Given the description of an element on the screen output the (x, y) to click on. 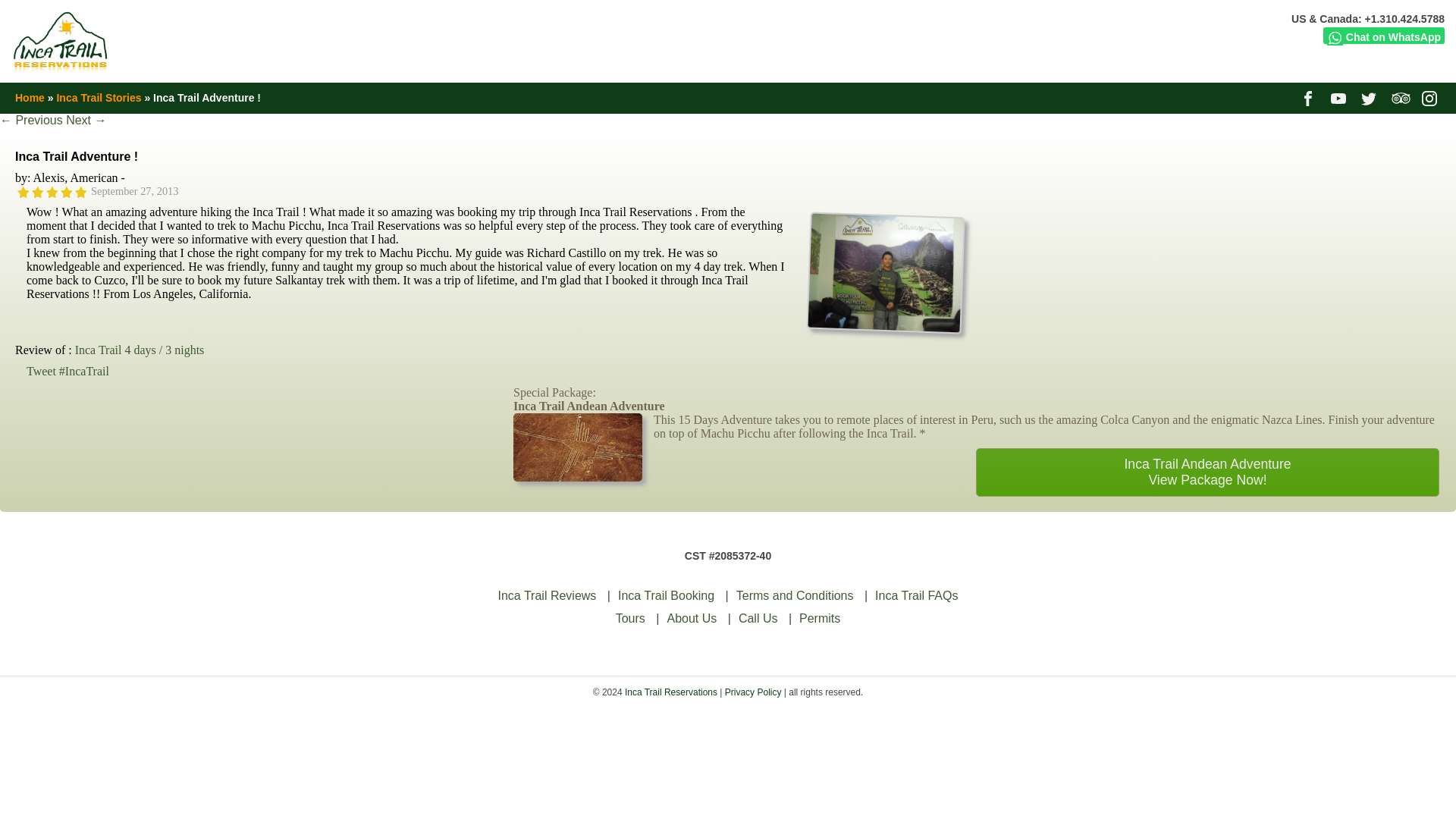
Tours (630, 617)
twitter (1370, 97)
Inca Trail Reviews (546, 594)
Call Us (757, 617)
Terms and Conditions (794, 594)
Inca Trail FAQs (916, 594)
Alexis Inca Trail September 27 2013 (883, 269)
Chat on WhatsApp (1383, 35)
About Us (691, 617)
Inca Trail Stories (98, 97)
